Given the description of an element on the screen output the (x, y) to click on. 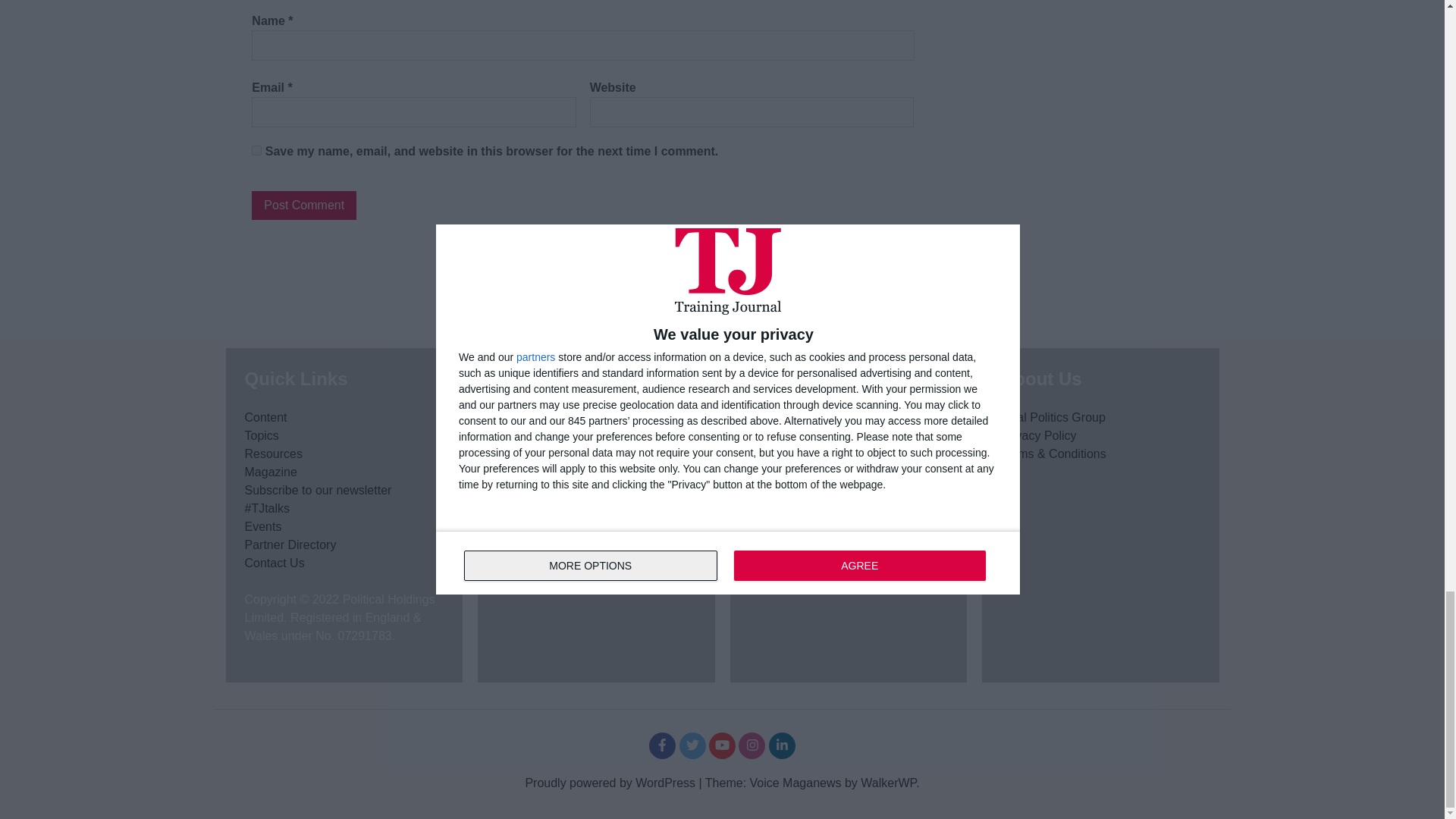
yes (256, 150)
Post Comment (303, 205)
